Given the description of an element on the screen output the (x, y) to click on. 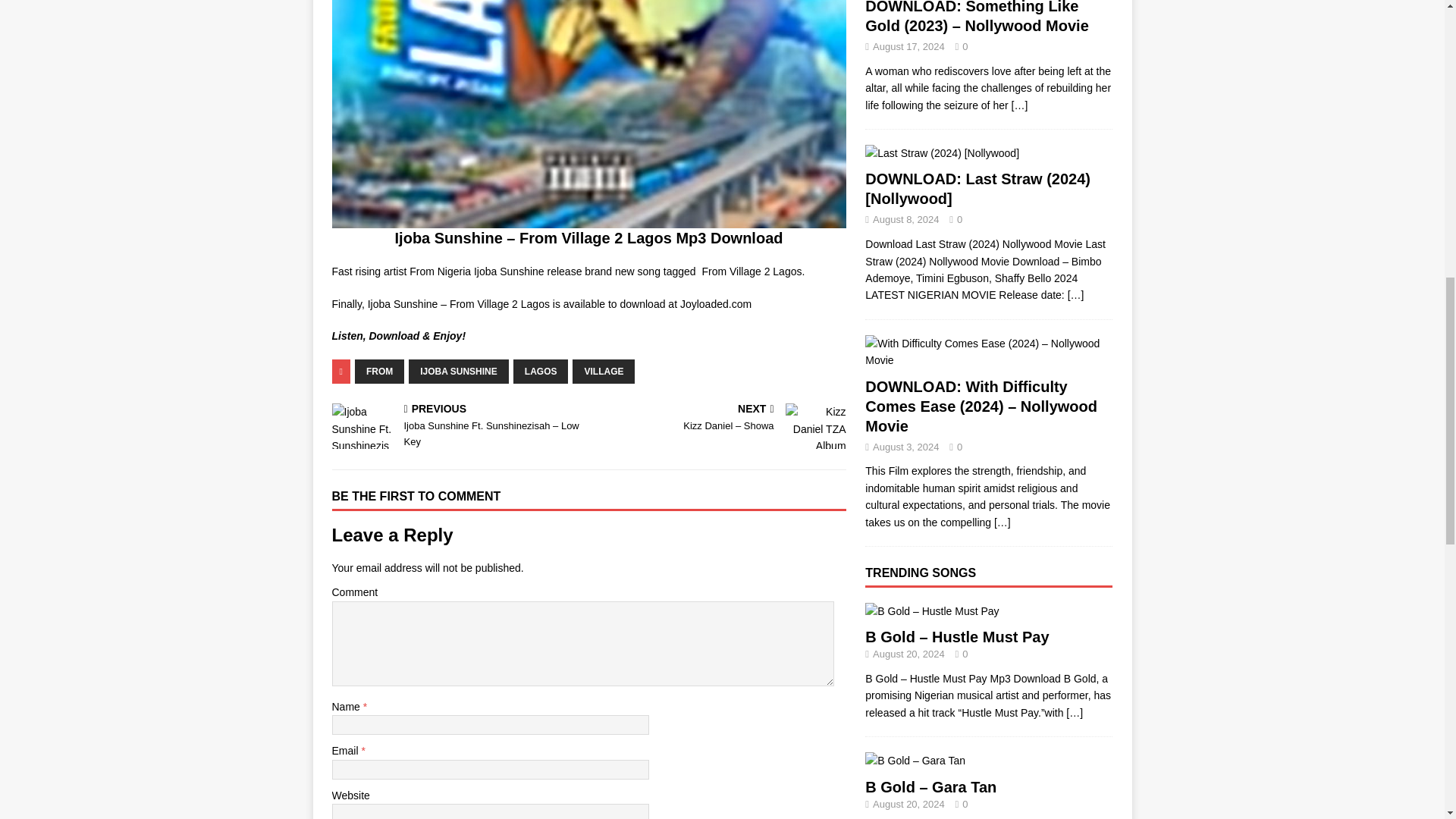
VILLAGE (603, 371)
IJOBA SUNSHINE (458, 371)
LAGOS (541, 371)
FROM (379, 371)
